Given the description of an element on the screen output the (x, y) to click on. 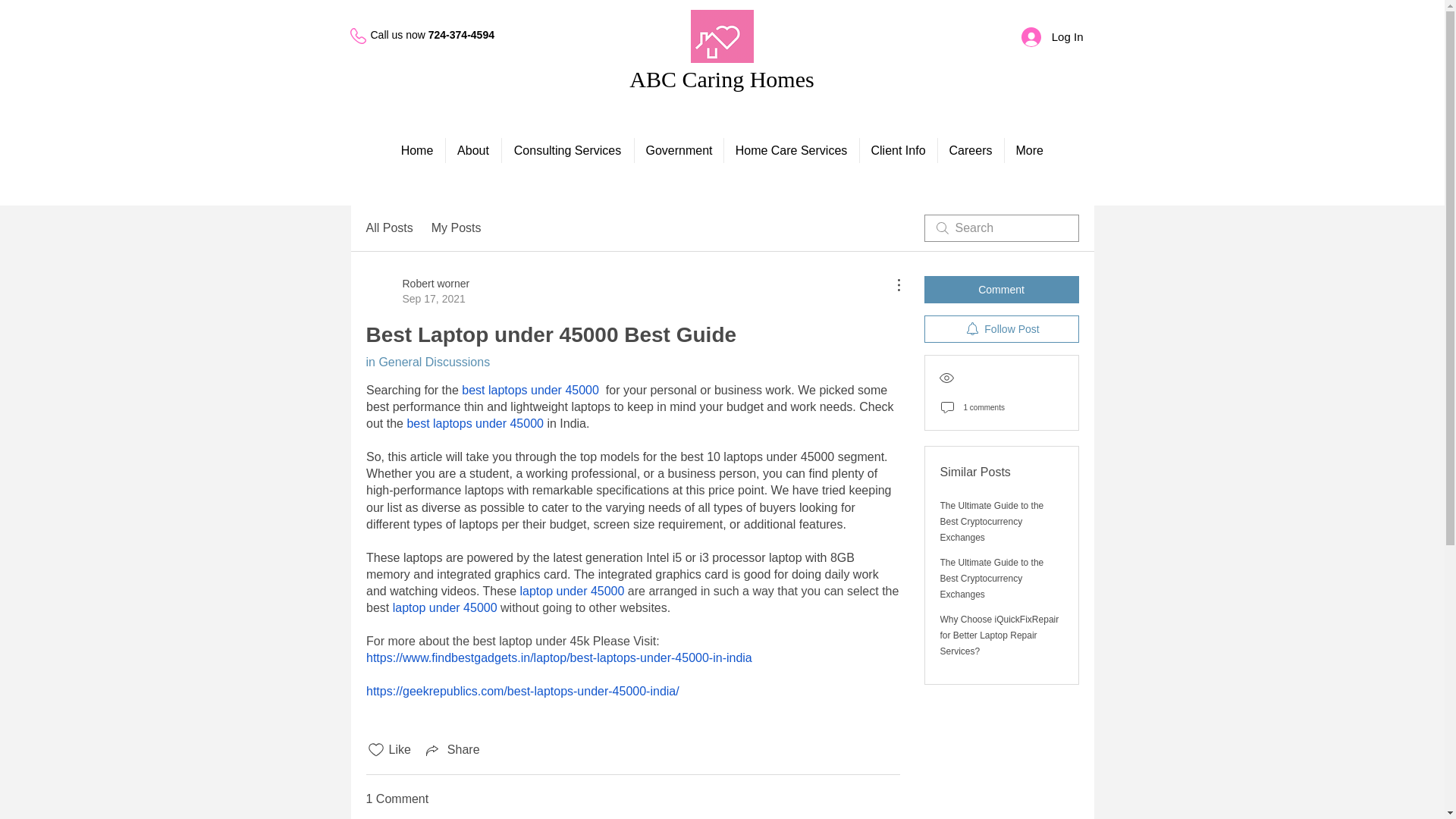
best laptops under 45000 (529, 390)
Government (677, 150)
Client Info (898, 150)
Log In (1052, 36)
Home Care Services (791, 150)
All Posts (416, 291)
Consulting Services (388, 228)
Careers (567, 150)
ABC Caring Homes (970, 150)
in General Discussions (720, 78)
Home (427, 361)
Call us now  (417, 150)
Share (398, 34)
My Posts (451, 750)
